Given the description of an element on the screen output the (x, y) to click on. 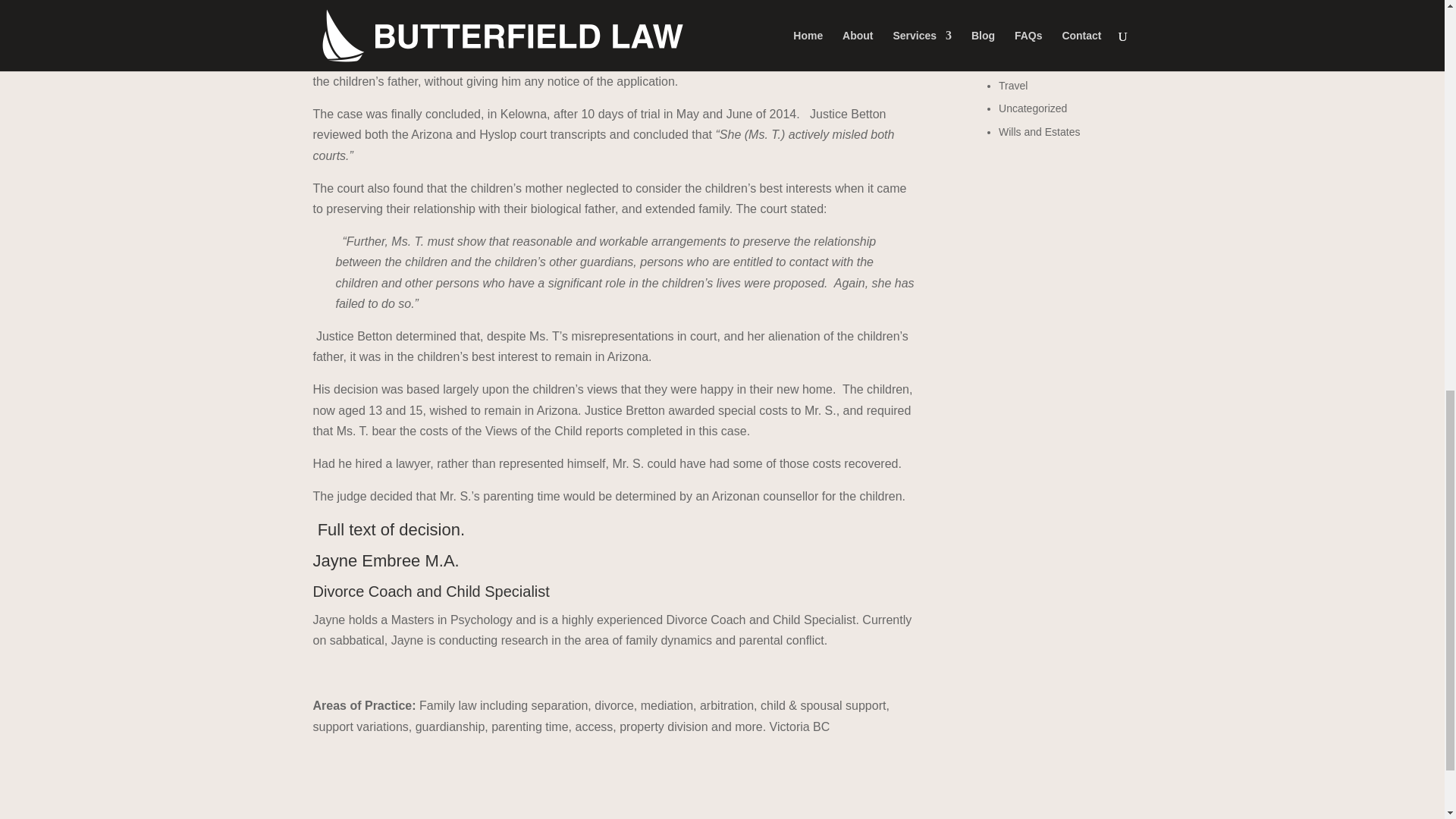
Full text of decision. (390, 529)
